Given the description of an element on the screen output the (x, y) to click on. 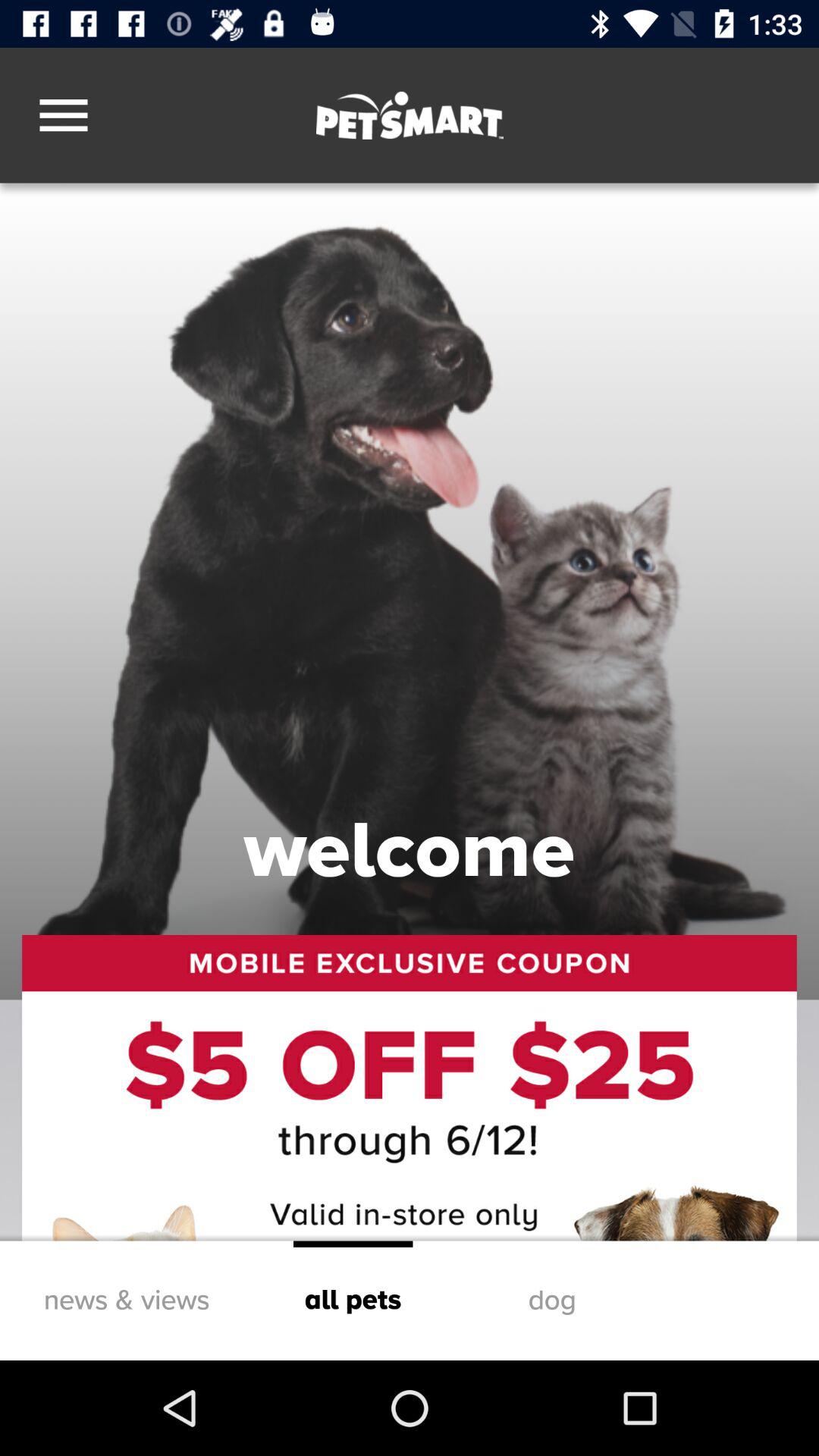
turn off item next to dog (352, 1300)
